Given the description of an element on the screen output the (x, y) to click on. 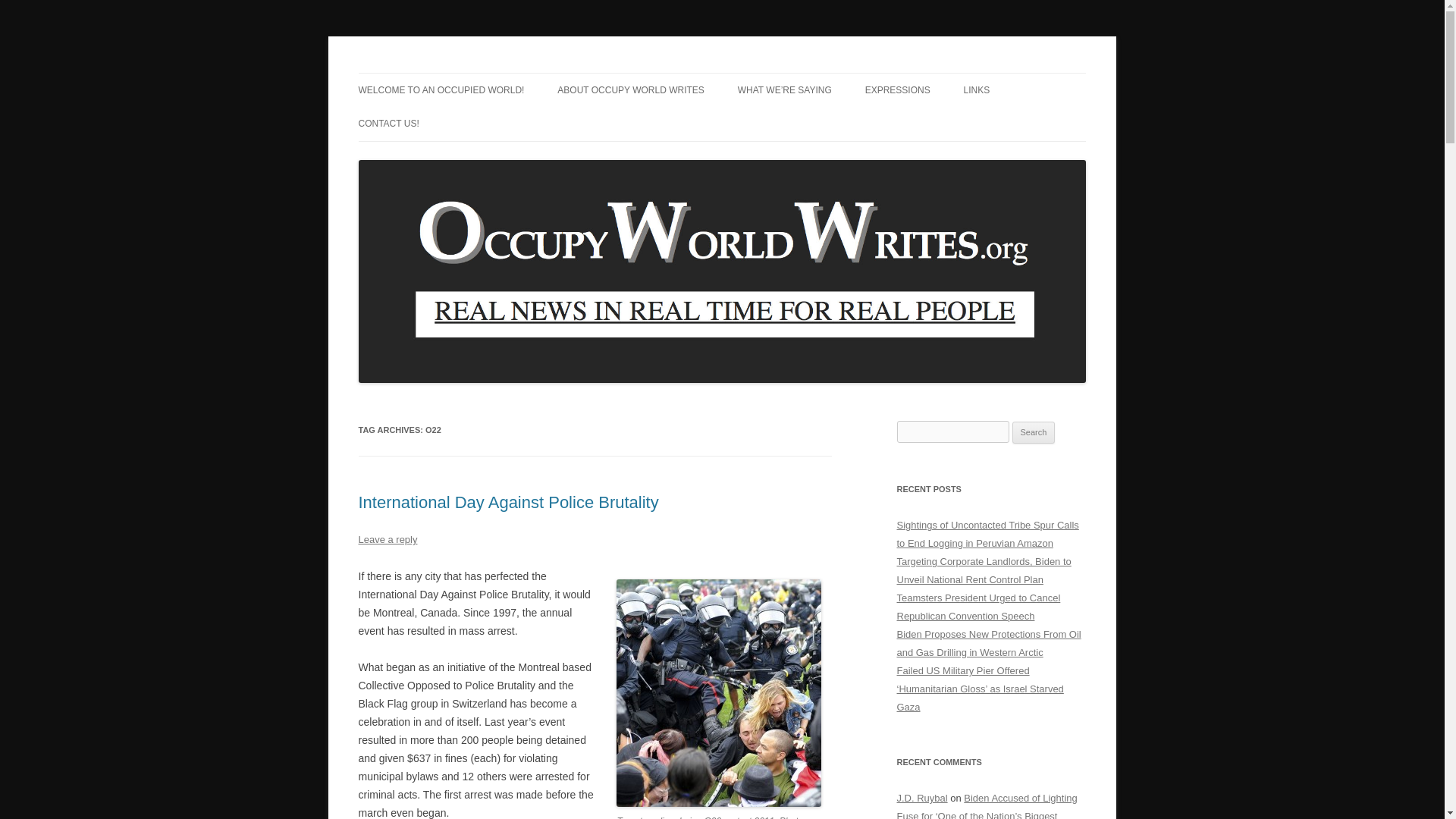
Occupy World Writes (457, 72)
International Day Against Police Brutality (508, 502)
Leave a reply (387, 539)
ABOUT OCCUPY WORLD WRITES (630, 90)
CONTACT US! (388, 123)
EXPRESSIONS (897, 90)
Search (1033, 432)
LINKS (976, 90)
Search (1033, 432)
J.D. Ruybal (921, 797)
